Given the description of an element on the screen output the (x, y) to click on. 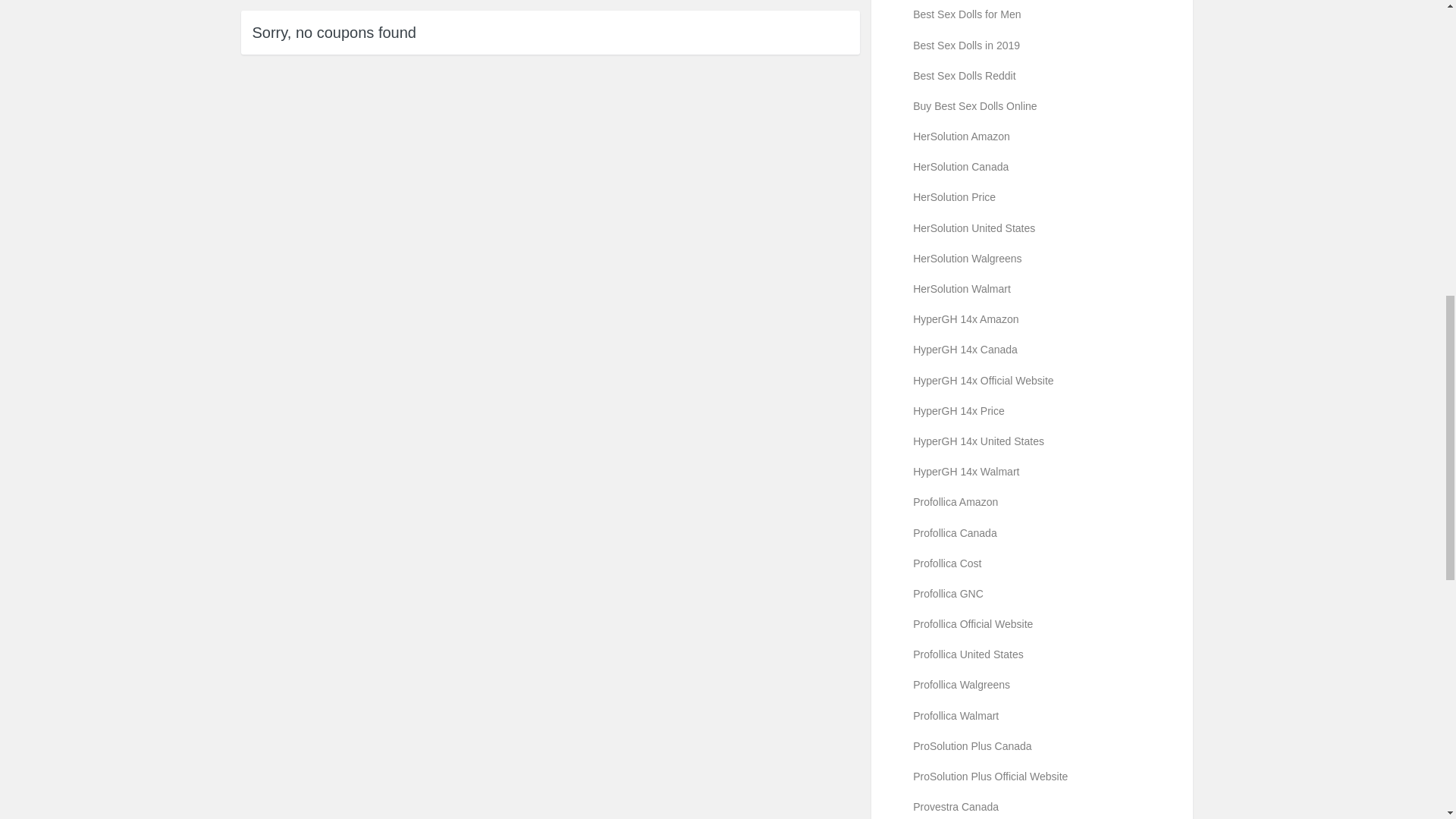
Best Sex Dolls for Men (1032, 14)
